Given the description of an element on the screen output the (x, y) to click on. 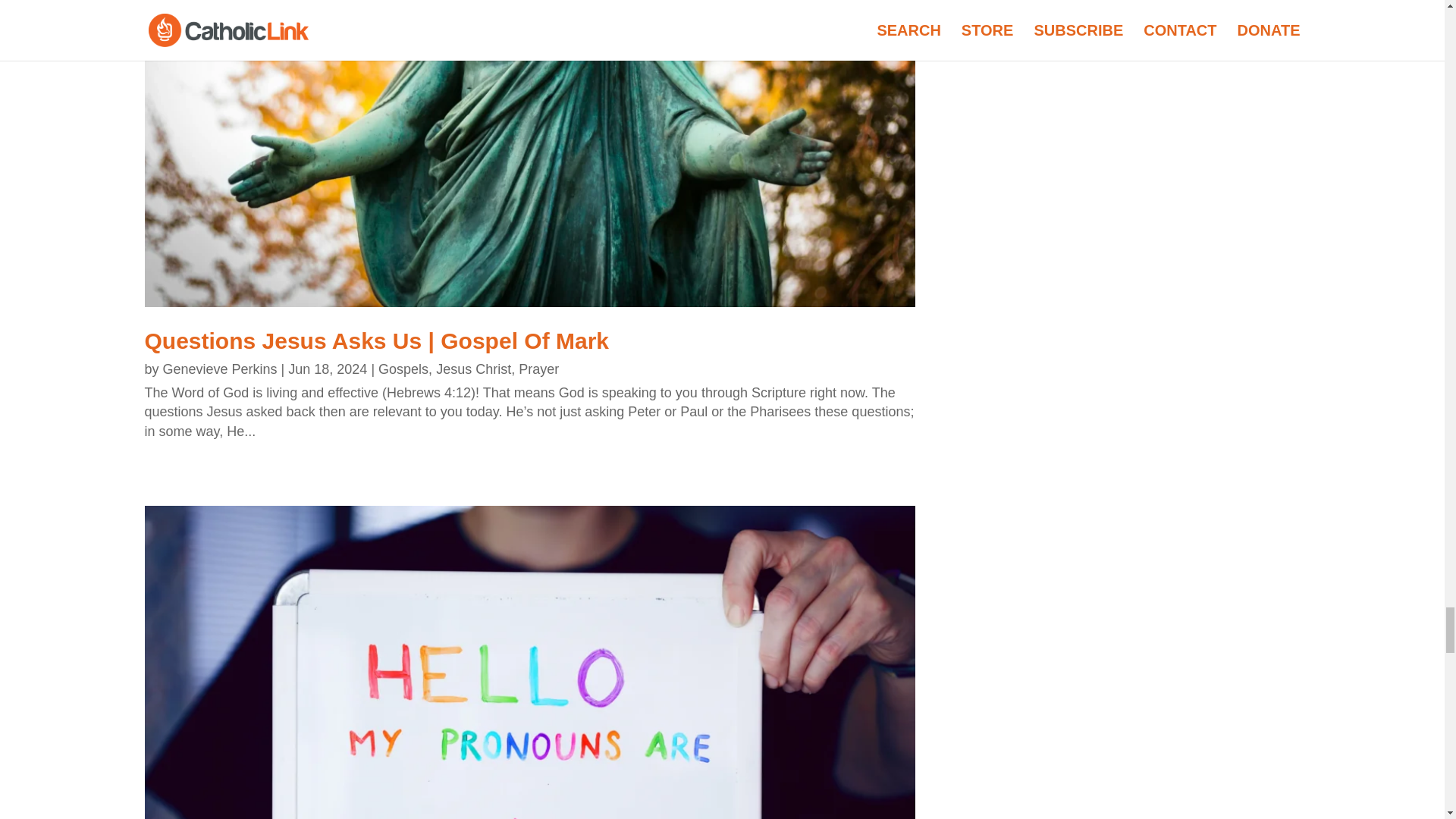
Posts by Genevieve Perkins (220, 368)
